Given the description of an element on the screen output the (x, y) to click on. 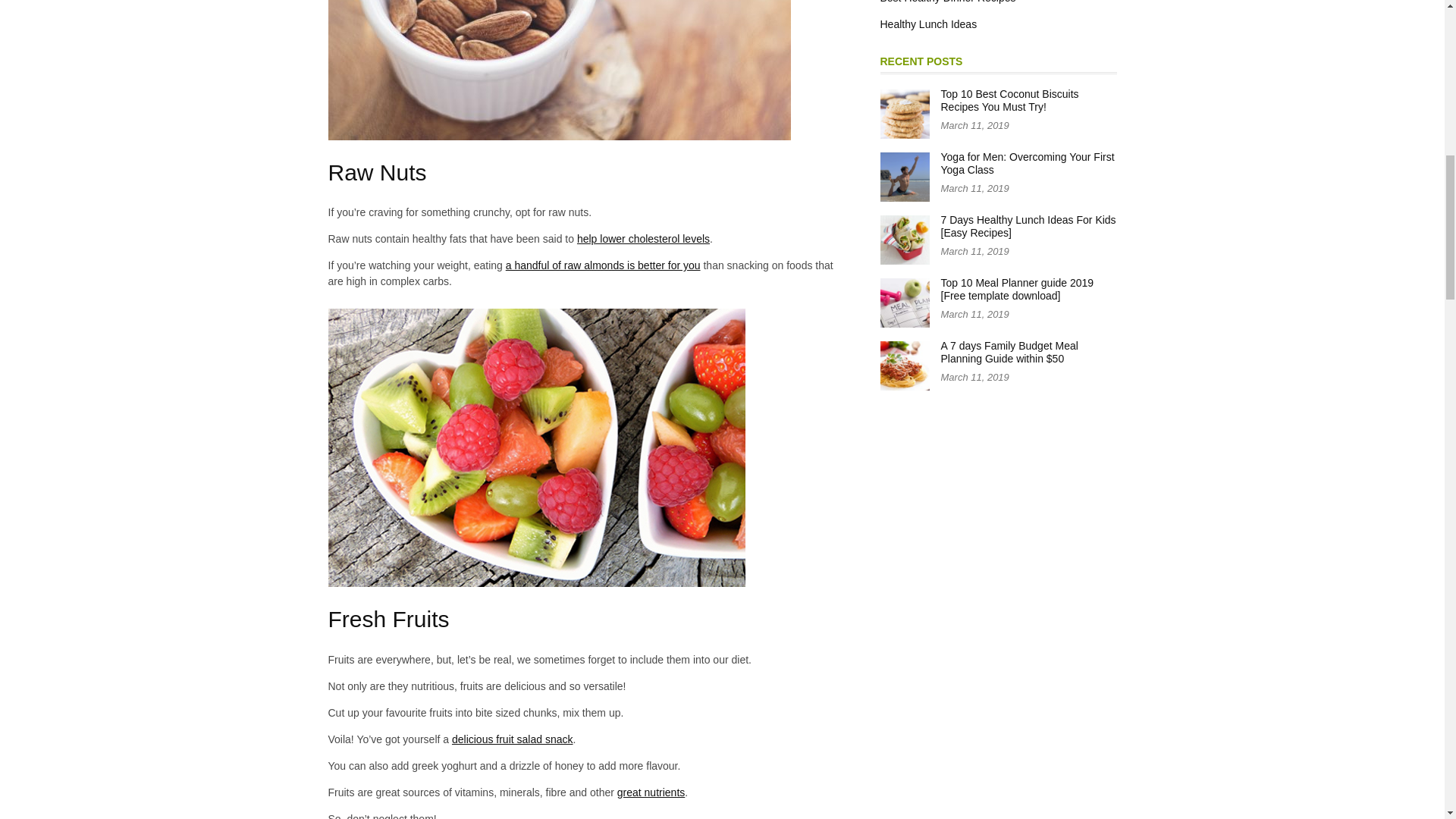
a handful of raw almonds is better for you (602, 265)
help lower cholesterol levels (643, 238)
Top 10 Best Coconut Biscuits Recipes You Must Try! (1009, 100)
great nutrients (651, 792)
delicious fruit salad snack (512, 739)
Yoga for Men: Overcoming Your First Yoga Class (1026, 163)
